Given the description of an element on the screen output the (x, y) to click on. 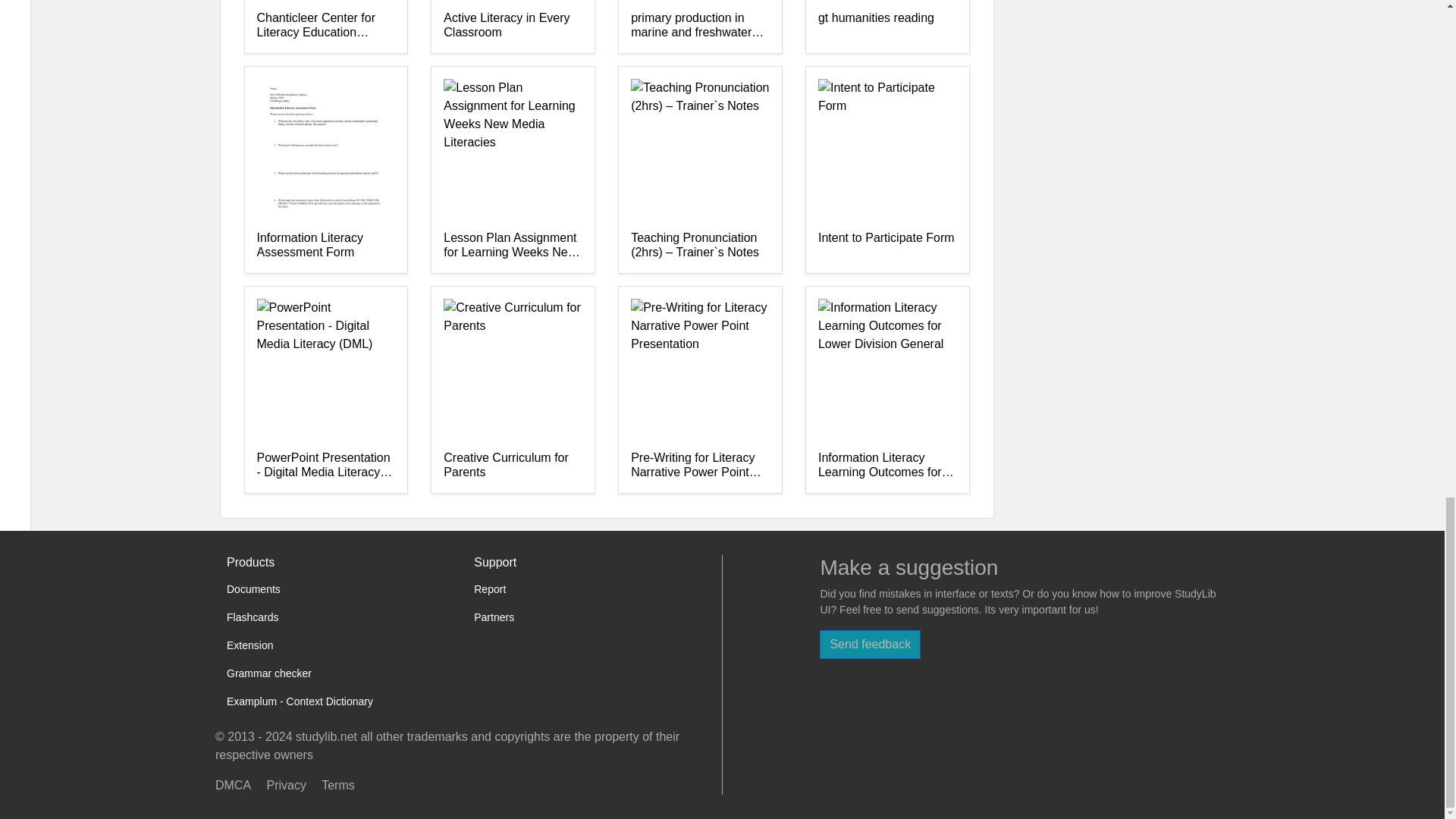
Active Literacy in Every Classroom (513, 25)
Pre-Writing for Literacy Narrative Power Point Presentation (700, 465)
Information Literacy Assessment Form (325, 245)
primary production in marine and freshwater ecosystems (700, 25)
Information Literacy Assessment Form (325, 245)
primary production in marine and freshwater ecosystems (700, 25)
gt humanities reading (887, 25)
